Given the description of an element on the screen output the (x, y) to click on. 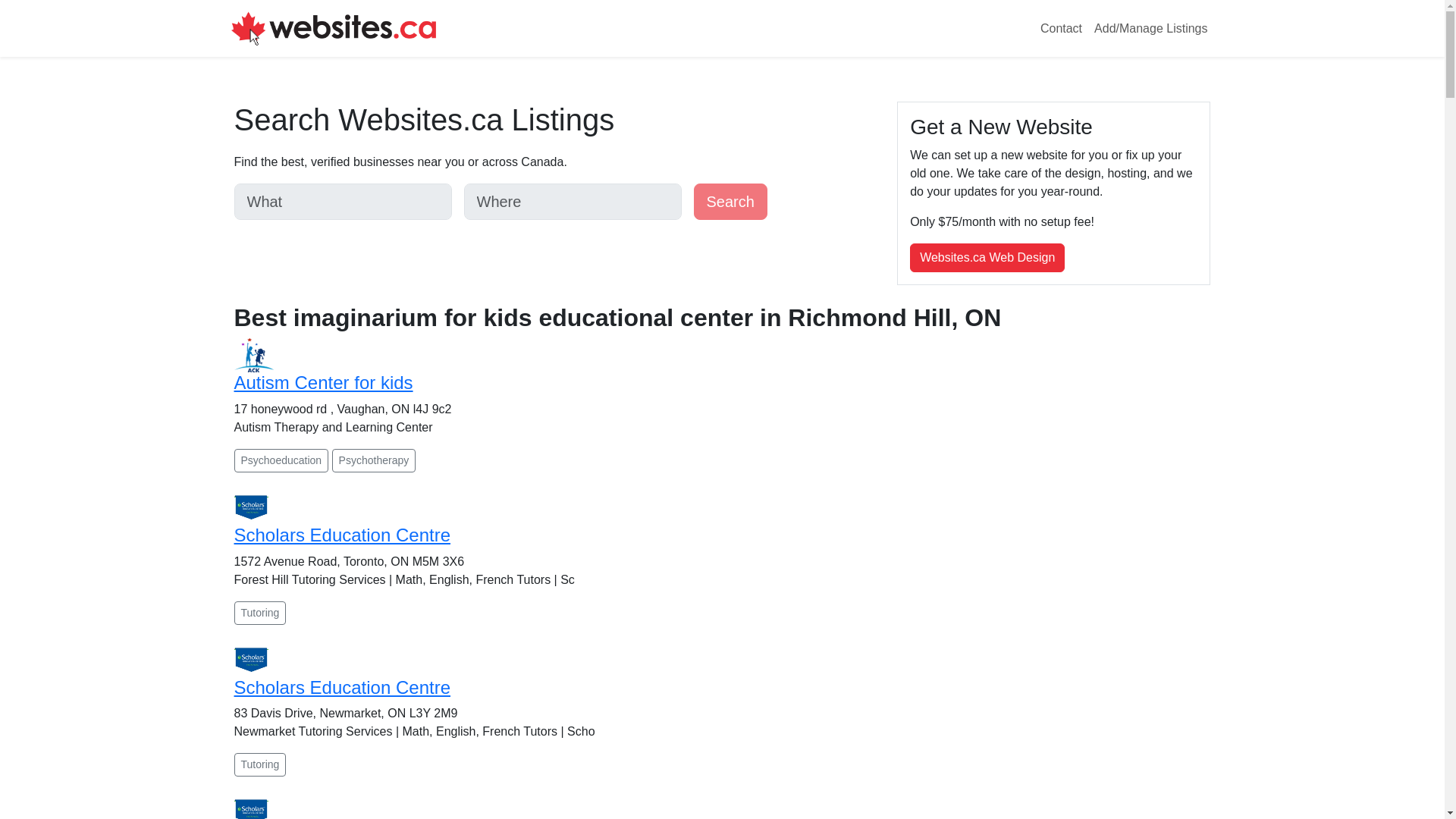
Scholars Education Centre (340, 687)
Scholars Education Centre (340, 534)
Psychotherapy (373, 460)
Autism Center for kids (322, 382)
Search (730, 201)
Tutoring (258, 764)
Contact (1060, 28)
Tutoring (258, 612)
Websites.ca Web Design (987, 257)
Psychoeducation (280, 460)
